Given the description of an element on the screen output the (x, y) to click on. 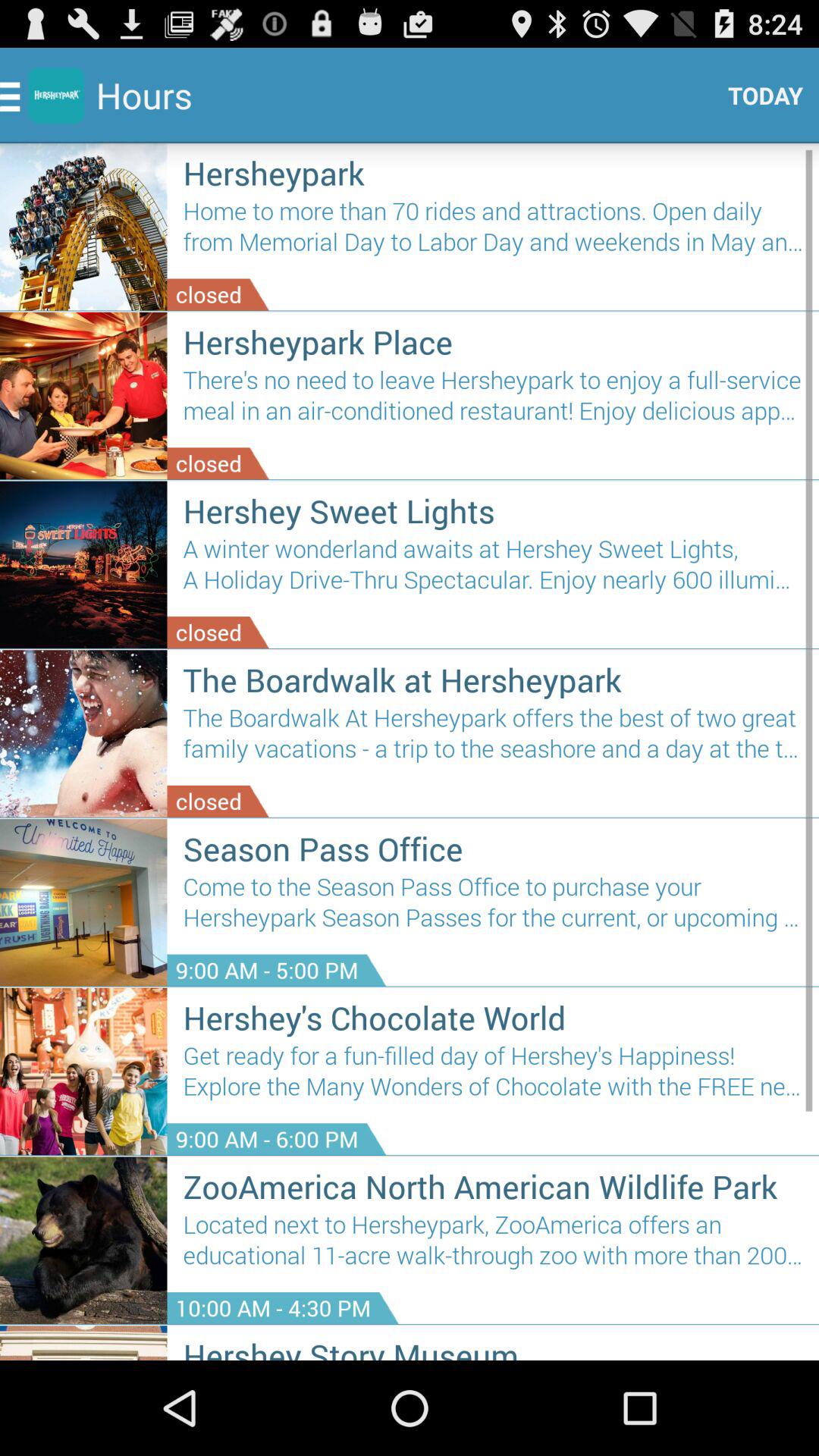
tap item above the there s no item (493, 341)
